Given the description of an element on the screen output the (x, y) to click on. 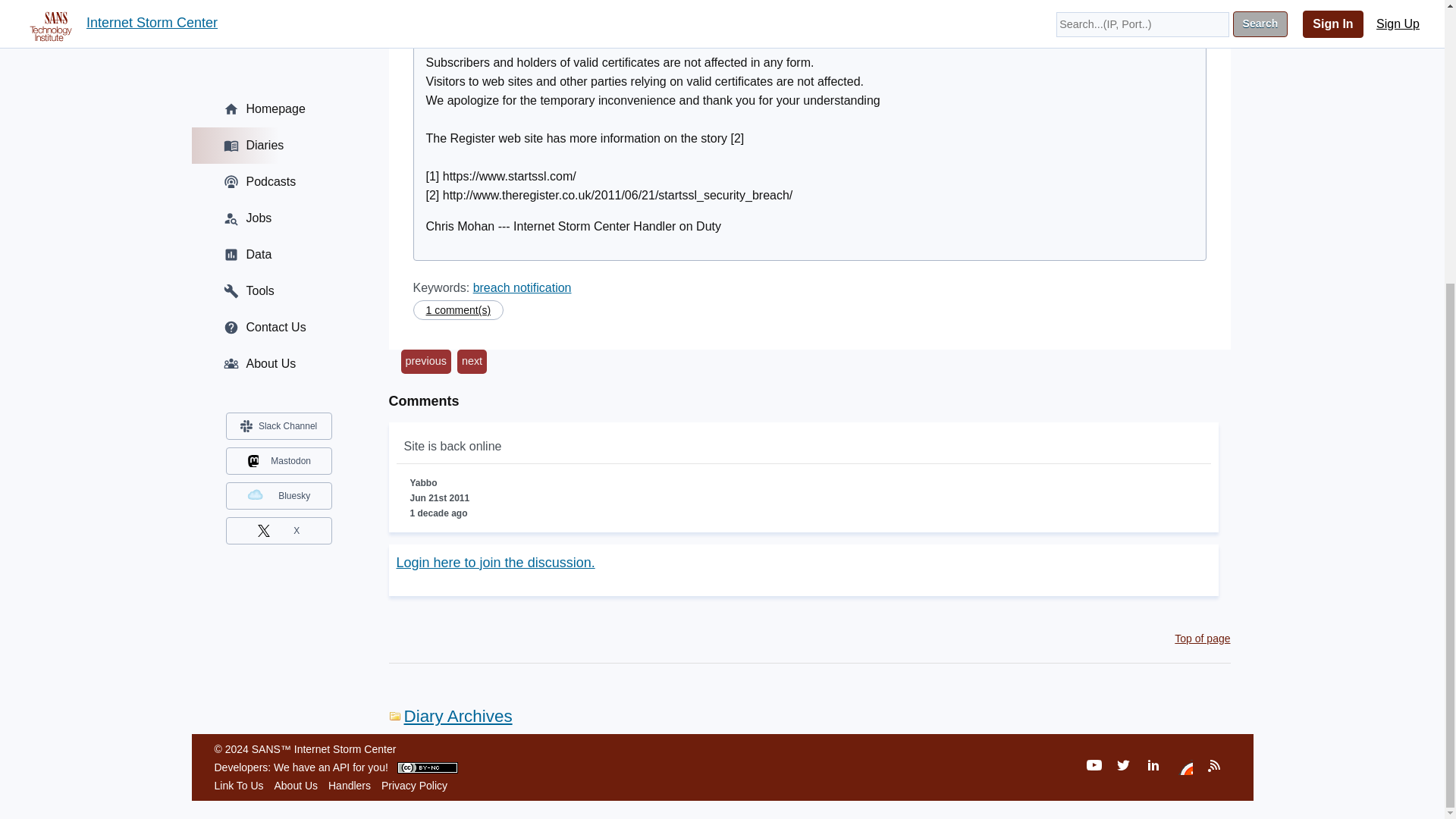
breach notification (522, 287)
next (471, 361)
Top of page (1202, 638)
Login here to join the discussion. (495, 562)
previous (424, 361)
Diary Archives (450, 715)
